Given the description of an element on the screen output the (x, y) to click on. 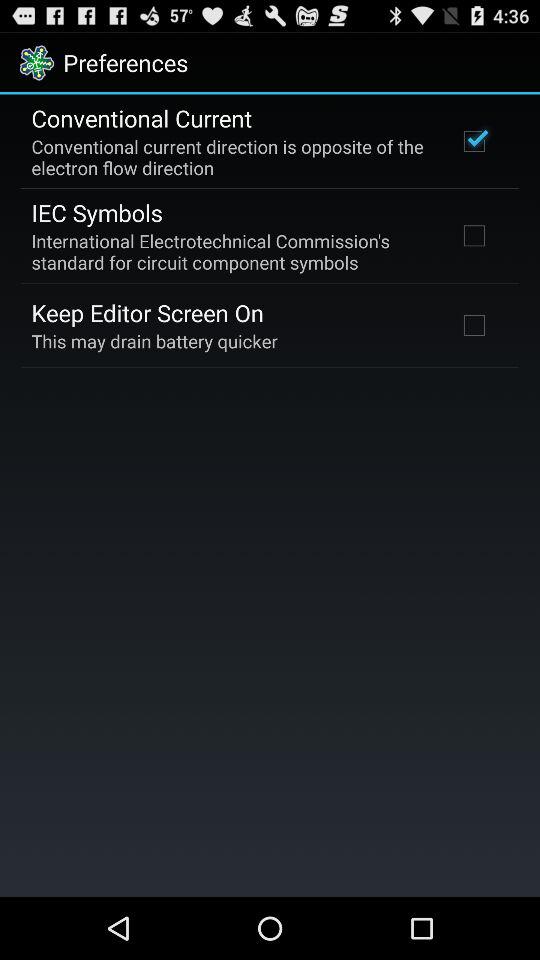
click app above the international electrotechnical commission app (96, 212)
